Given the description of an element on the screen output the (x, y) to click on. 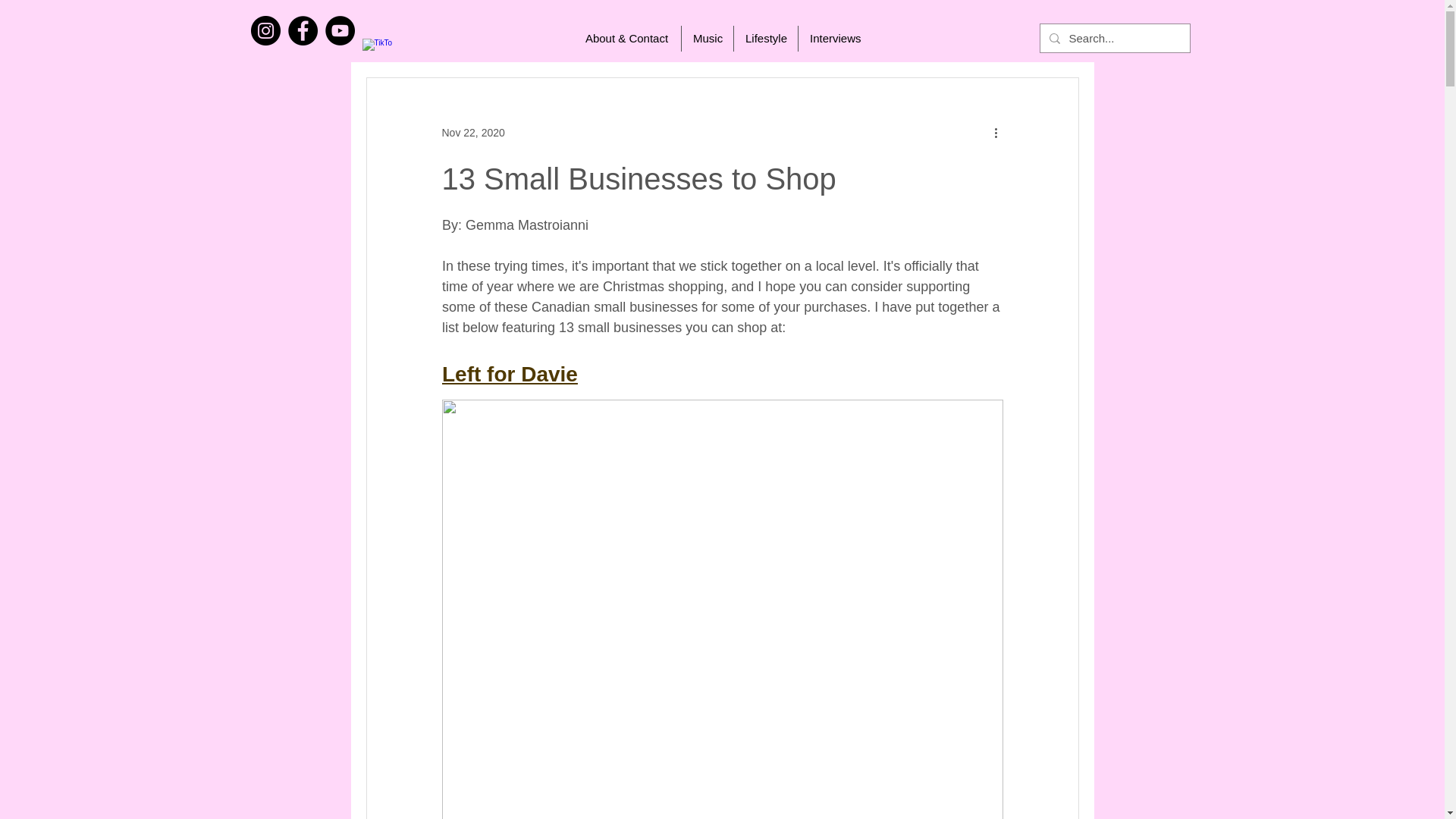
Lifestyle (765, 38)
Nov 22, 2020 (472, 132)
Music (707, 38)
Interviews (833, 38)
